Given the description of an element on the screen output the (x, y) to click on. 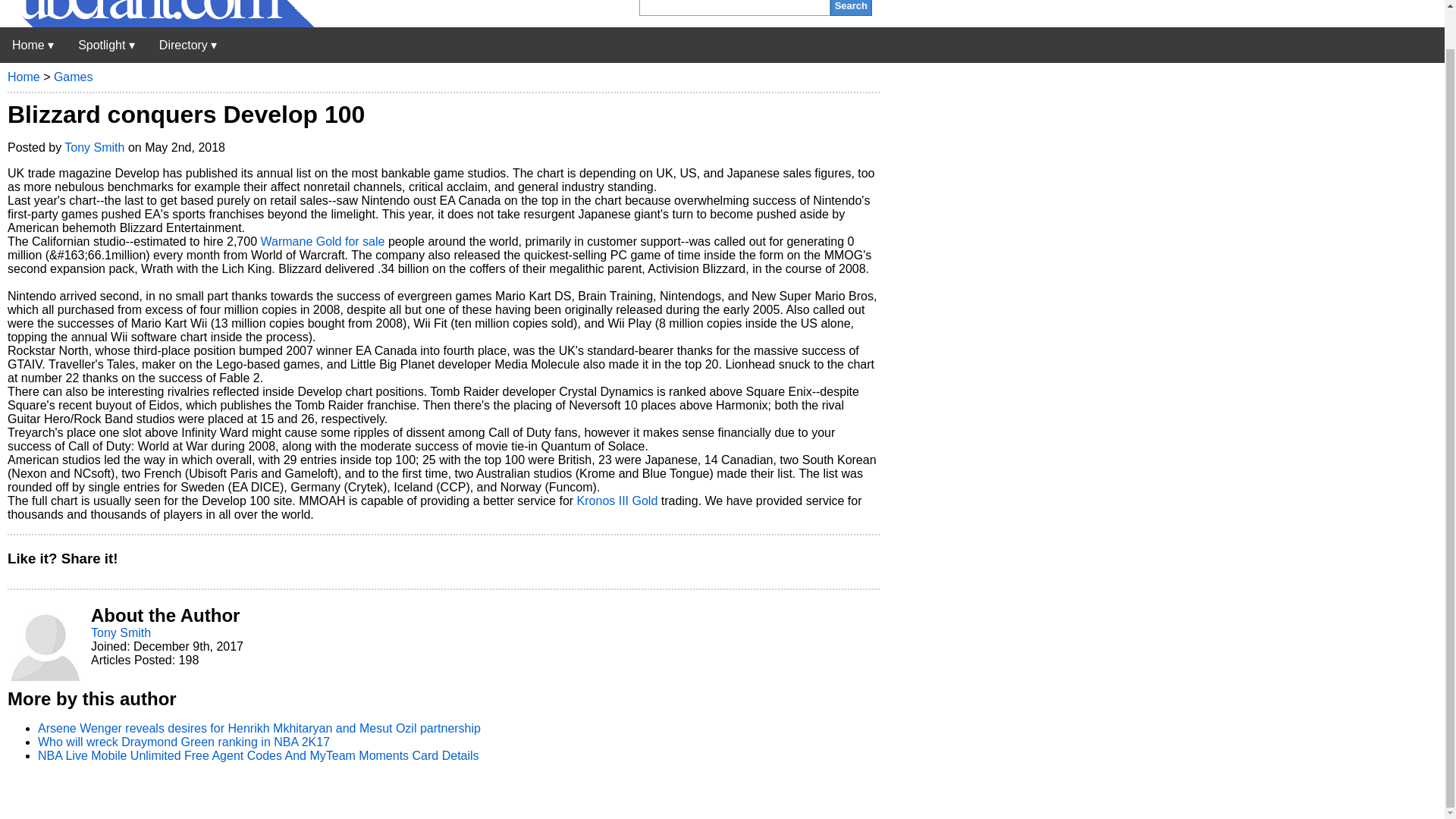
Uberant (32, 44)
Search (850, 7)
Search (850, 7)
Uberant (157, 22)
